Given the description of an element on the screen output the (x, y) to click on. 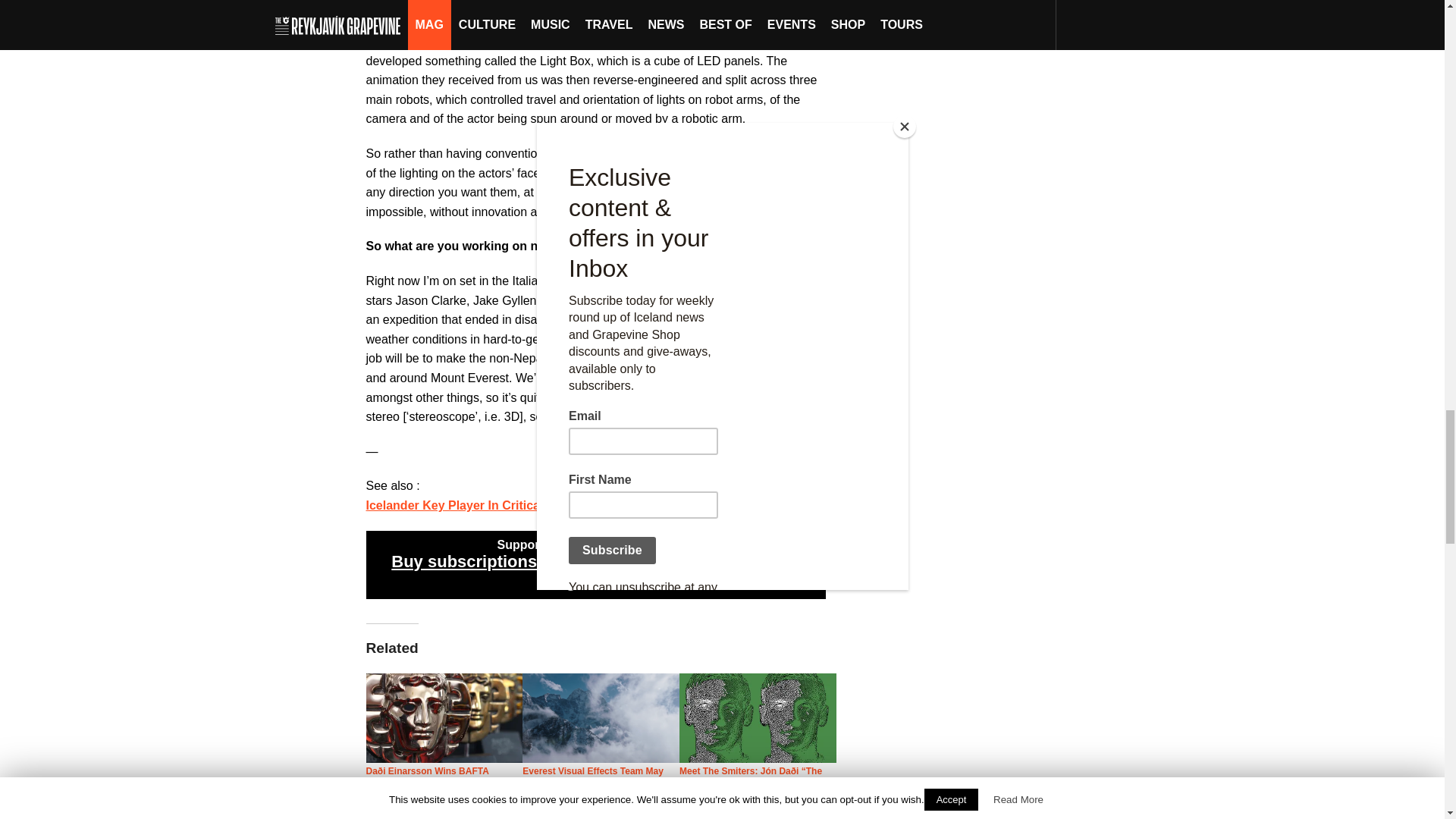
Everest Visual Effects Team May Get Oscar Nomination (592, 778)
Everest Visual Effects Team May Get Oscar Nomination (600, 717)
Economist: Need To Raise Food Prices Further (443, 812)
Everest Visual Effects Team May Get Oscar Nomination (592, 778)
Icelander Key Player In Critically Acclaimed Film (505, 504)
